Given the description of an element on the screen output the (x, y) to click on. 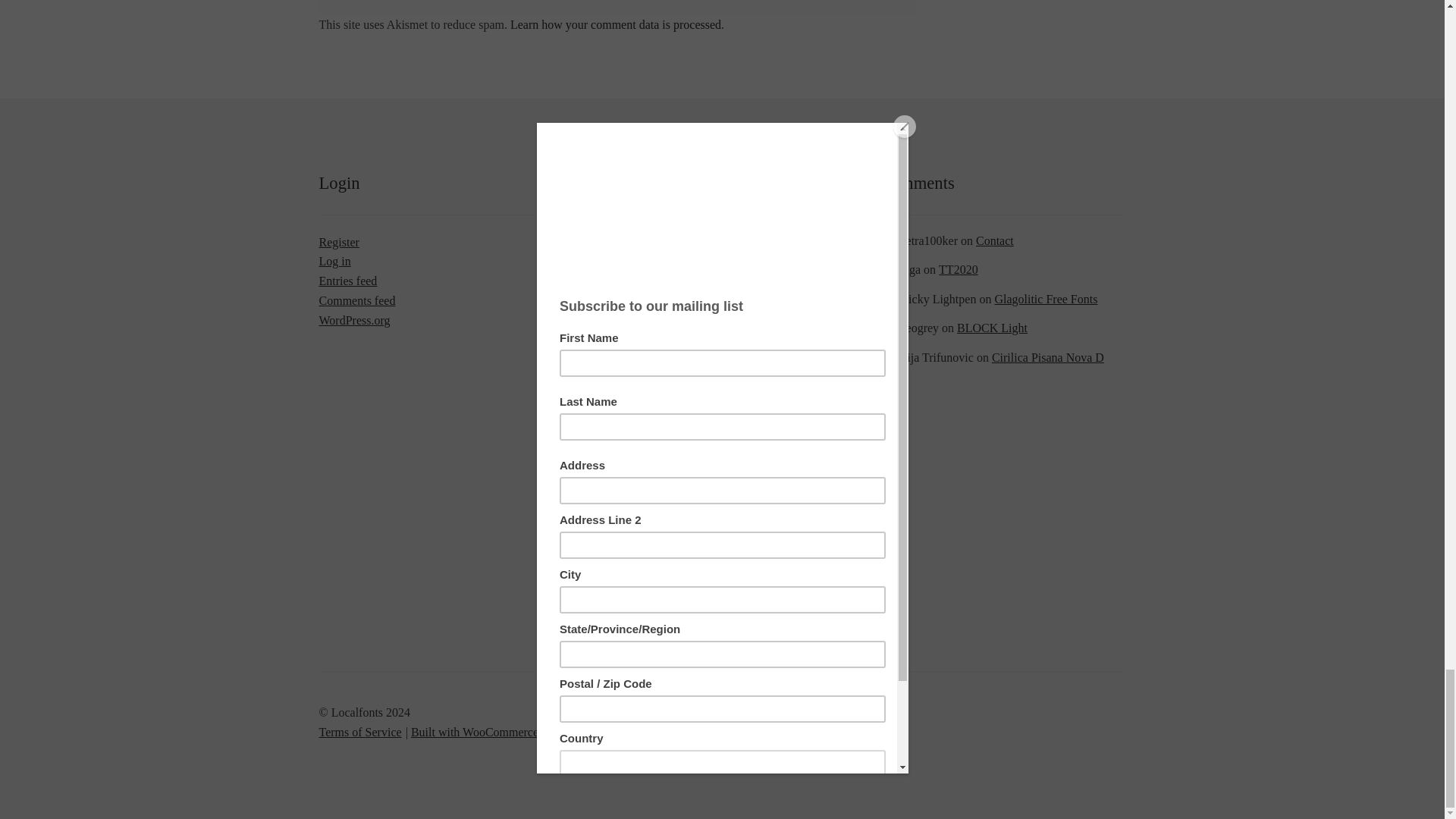
WooCommerce - The Best eCommerce Platform for WordPress (474, 731)
